Given the description of an element on the screen output the (x, y) to click on. 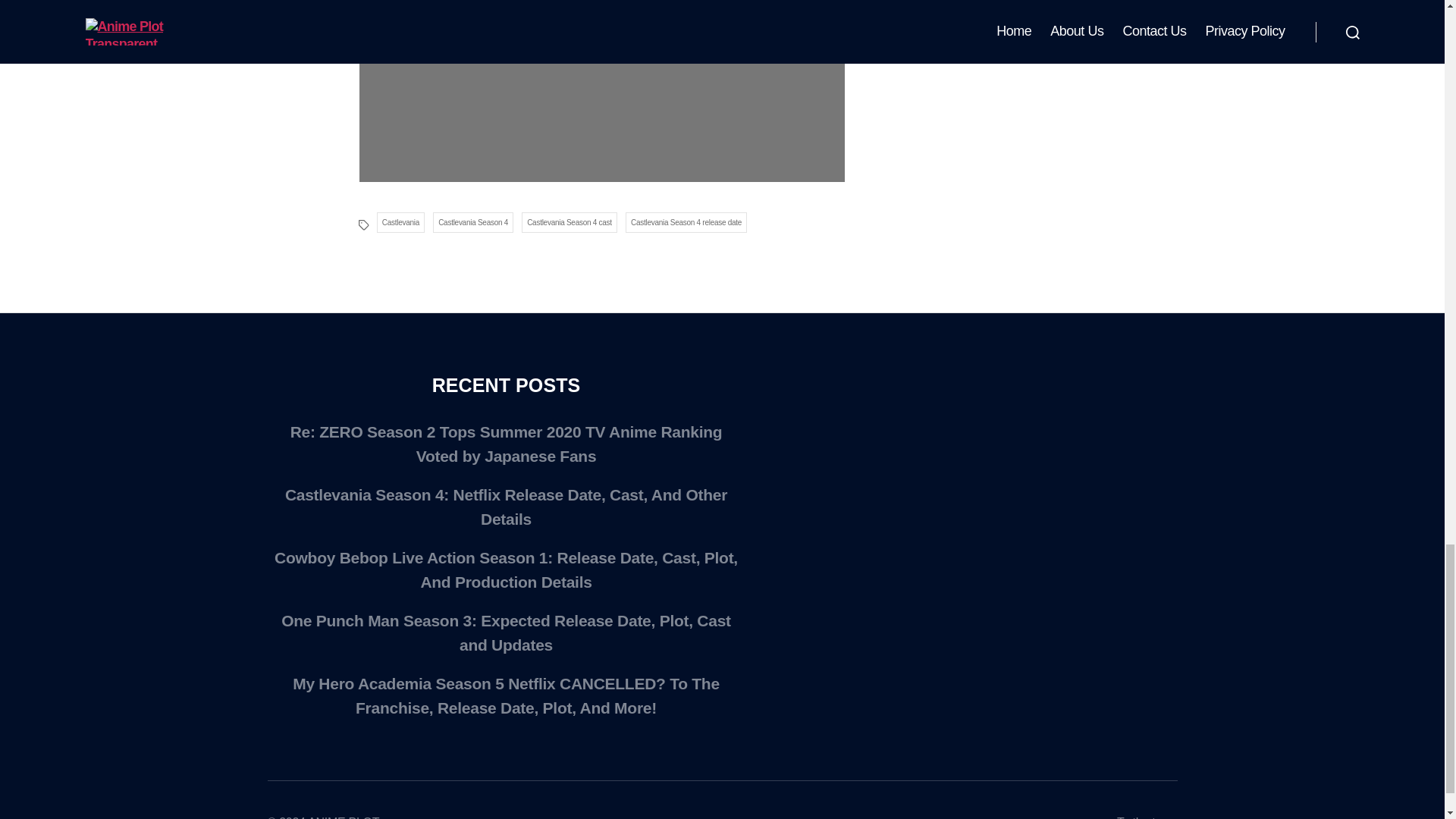
Castlevania (400, 222)
Castlevania Season 4 release date (687, 222)
Castlevania Season 4 (472, 222)
Castlevania Season 4 cast (569, 222)
